Given the description of an element on the screen output the (x, y) to click on. 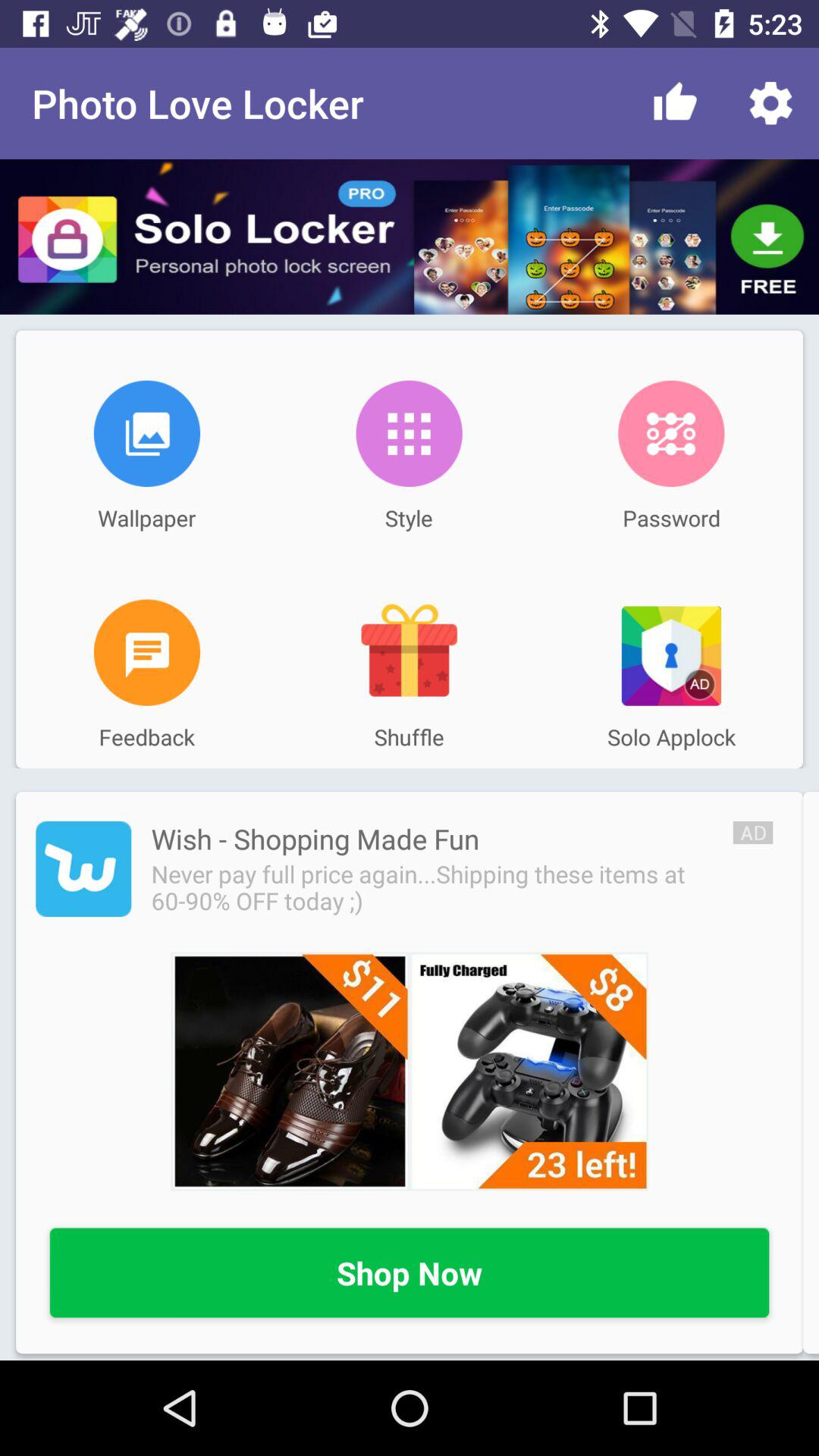
go to feedback page (146, 652)
